Given the description of an element on the screen output the (x, y) to click on. 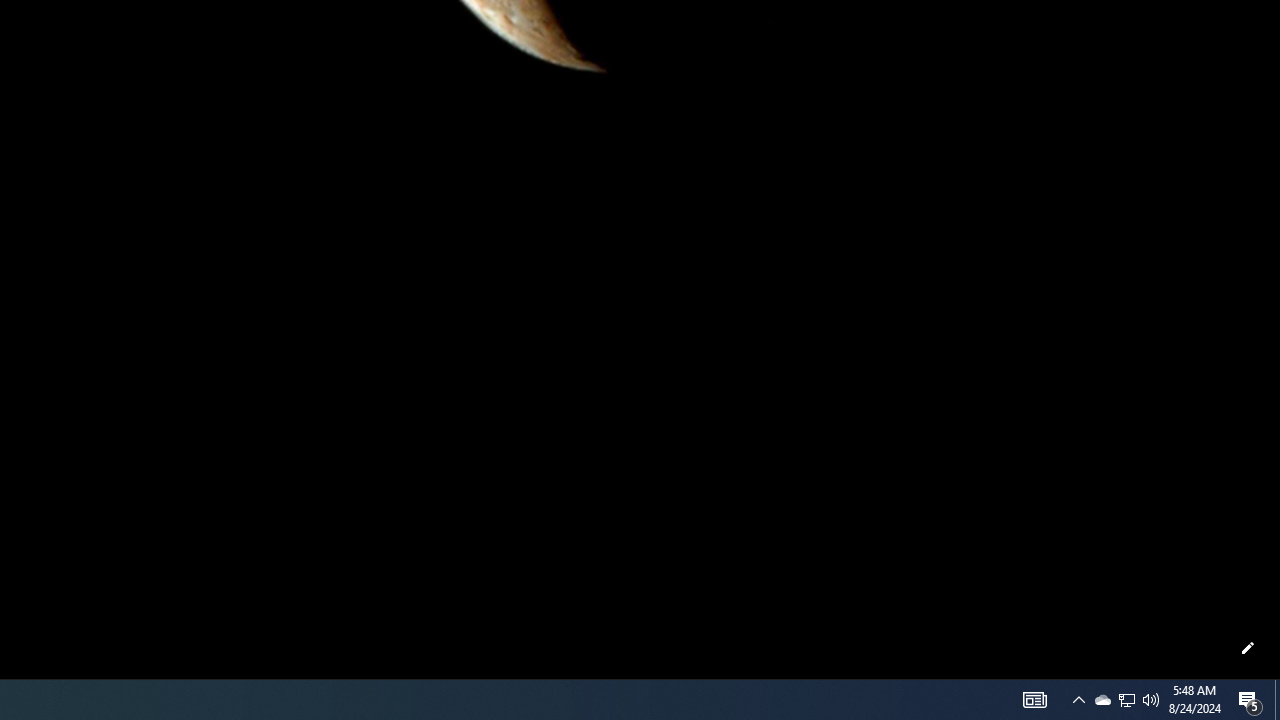
Customize this page (1247, 647)
